Given the description of an element on the screen output the (x, y) to click on. 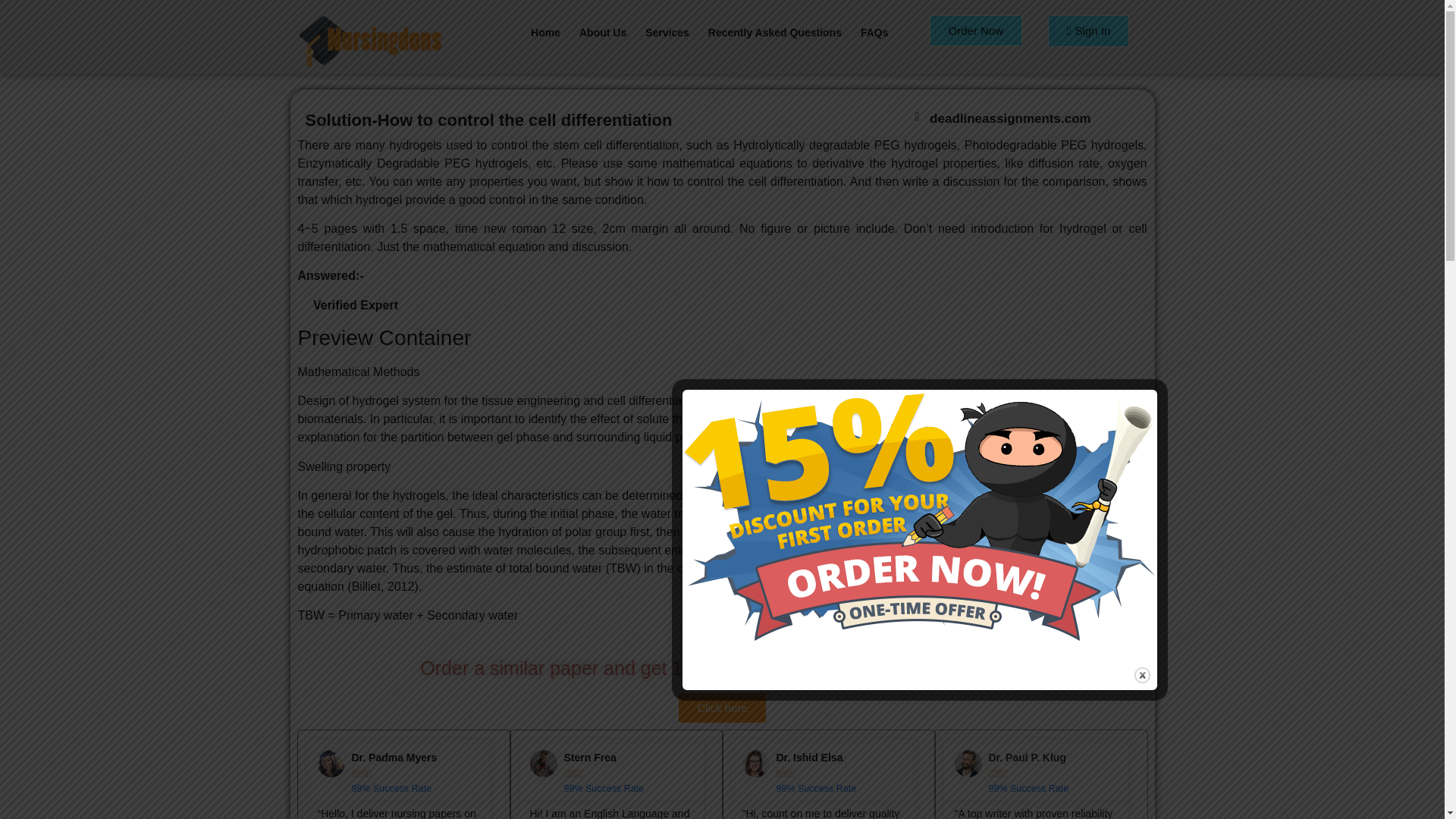
Services (667, 32)
Home (545, 32)
Close (1142, 675)
Click here (721, 707)
FAQs (874, 32)
Sign In (1088, 30)
About Us (603, 32)
Order Now (976, 30)
deadlineassignments.com (1010, 118)
Recently Asked Questions (775, 32)
